Given the description of an element on the screen output the (x, y) to click on. 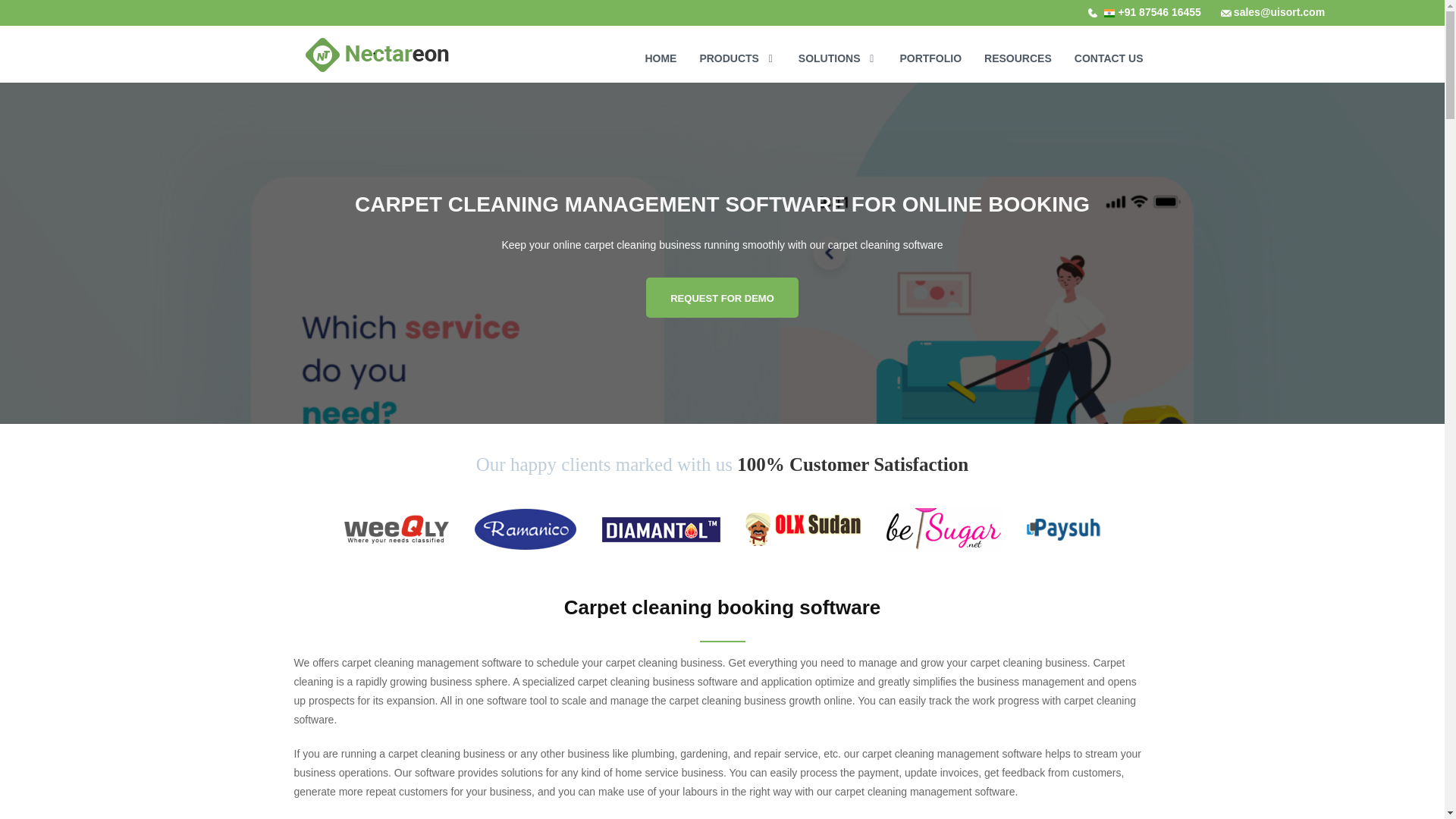
SOLUTIONS (837, 50)
Products (736, 50)
REQUEST FOR DEMO (721, 297)
india (1158, 11)
Nectareon (376, 55)
PRODUCTS (736, 50)
RESOURCES (1017, 50)
REQUEST FOR DEMO (721, 297)
CONTACT US (1108, 50)
PORTFOLIO (929, 50)
